Given the description of an element on the screen output the (x, y) to click on. 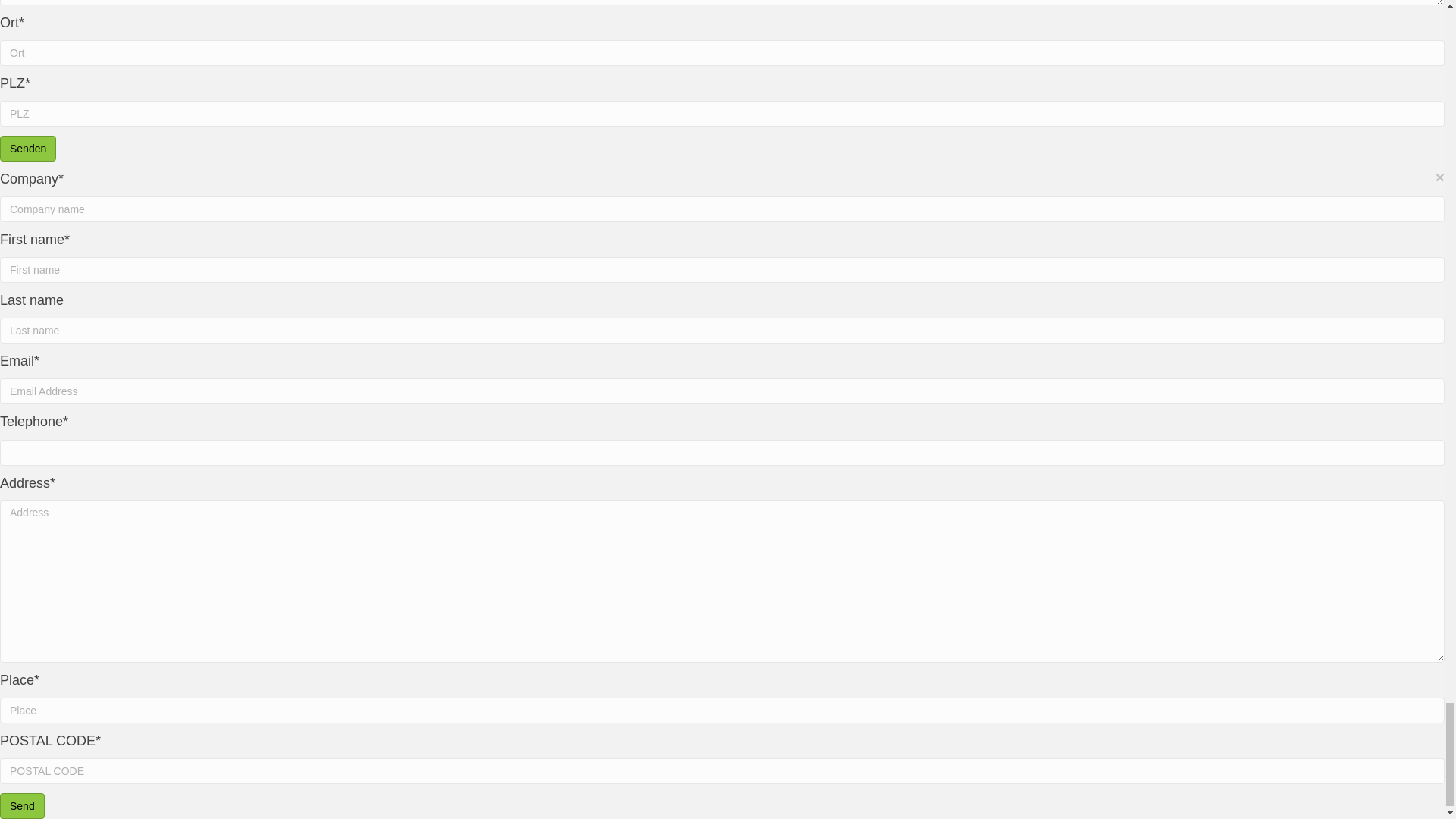
Senden (28, 148)
Senden (28, 148)
